Given the description of an element on the screen output the (x, y) to click on. 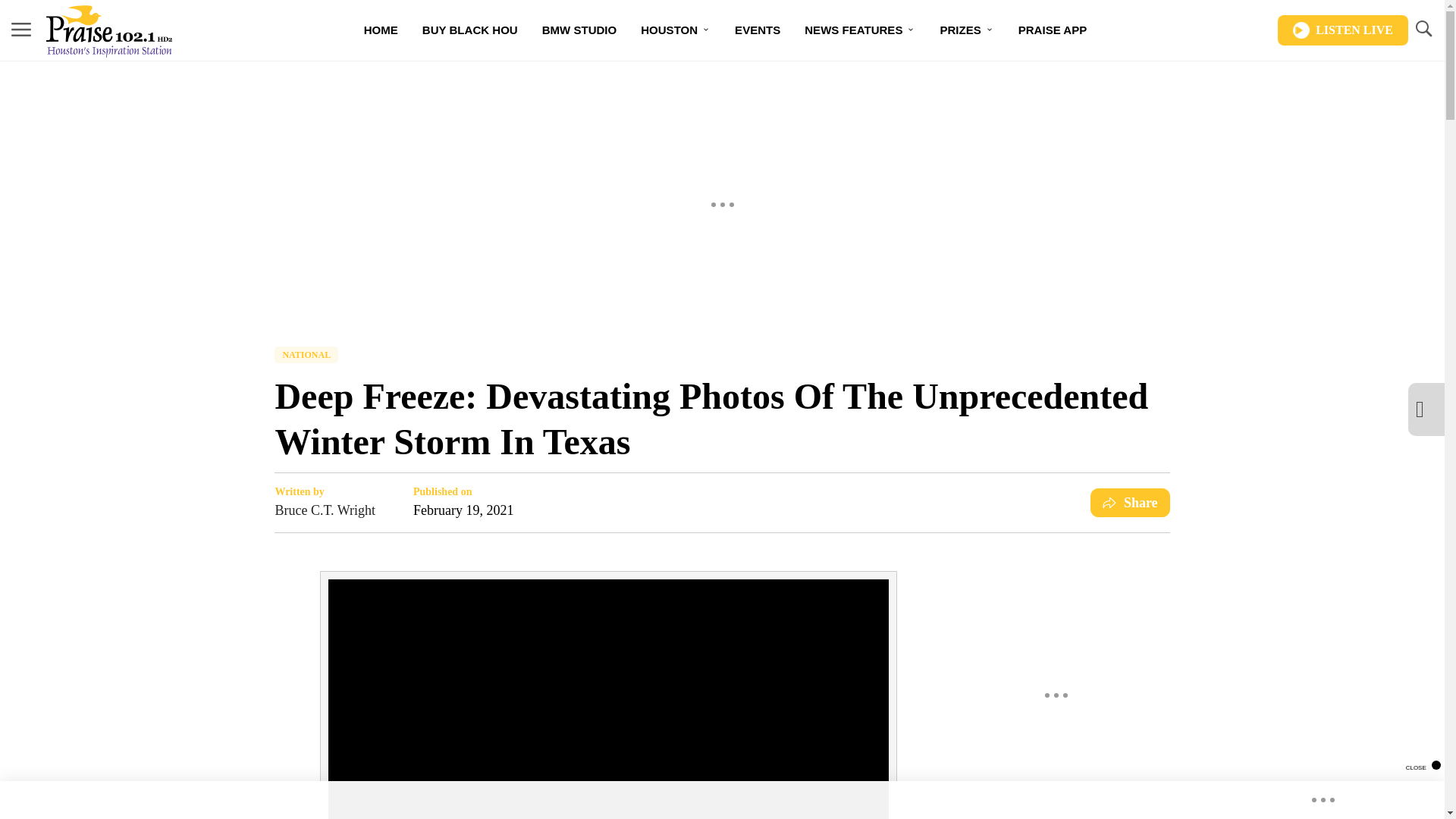
NATIONAL (306, 354)
PRAISE APP (1052, 30)
MUSIC PLAYLIST (647, 82)
TOGGLE SEARCH (1422, 28)
BMW STUDIO (578, 30)
MENU (20, 29)
HOME (381, 30)
HOUSTON (675, 30)
PRIZES (966, 30)
MENU (20, 30)
